Given the description of an element on the screen output the (x, y) to click on. 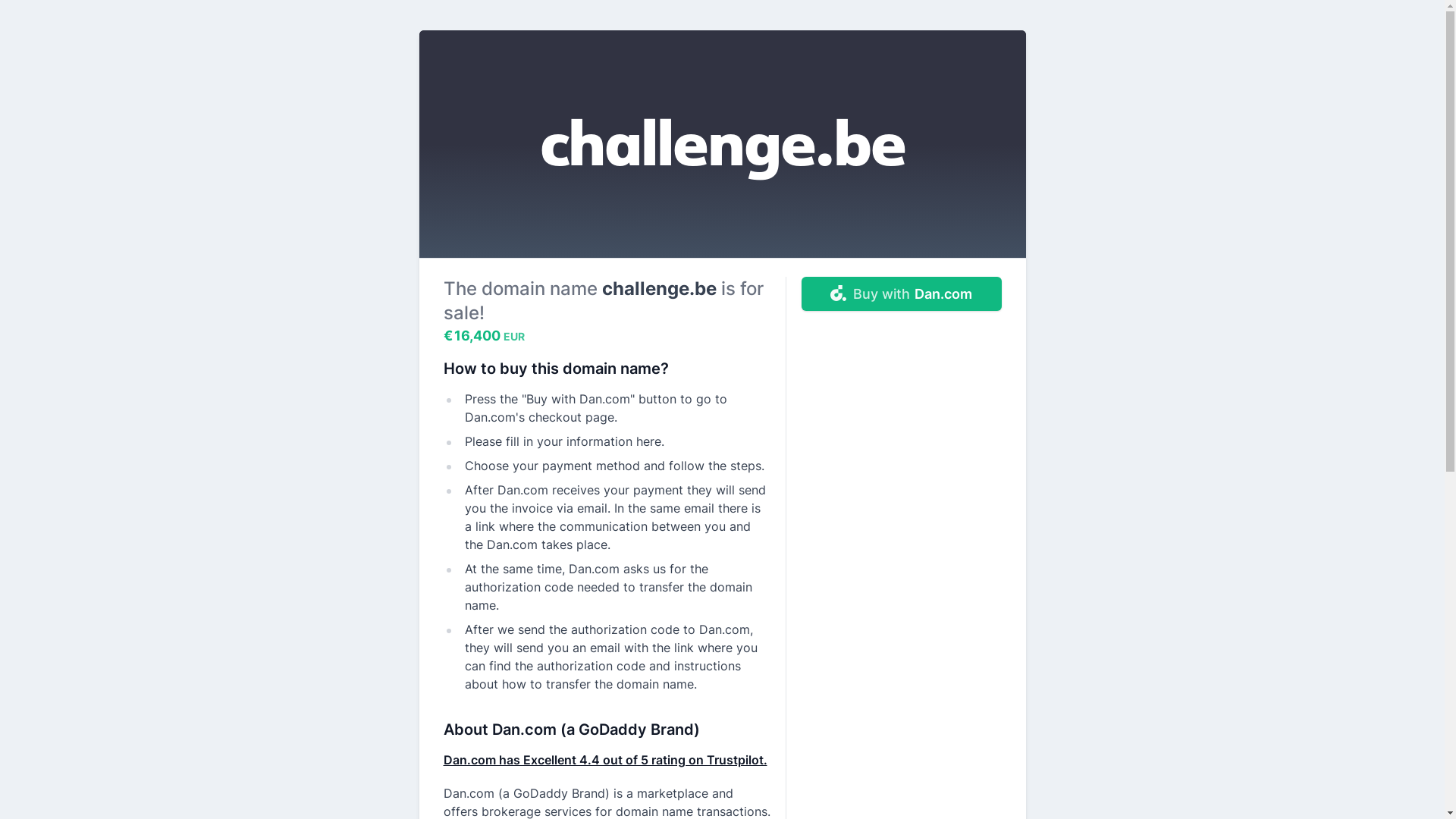
Buy with Dan.com Element type: text (900, 293)
Dan.com has Excellent 4.4 out of 5 rating on Trustpilot. Element type: text (604, 759)
